Given the description of an element on the screen output the (x, y) to click on. 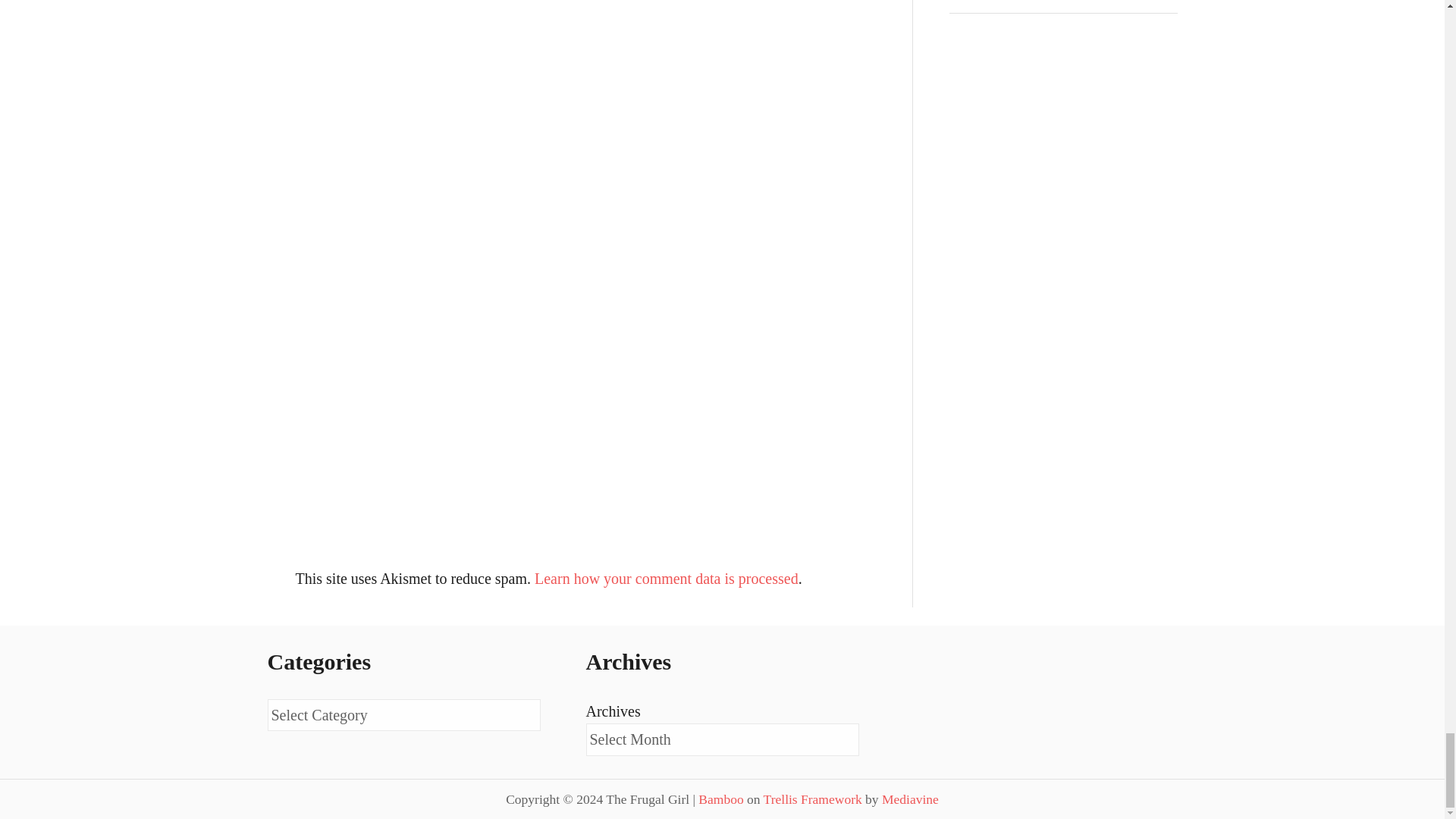
Learn how your comment data is processed (665, 578)
